Given the description of an element on the screen output the (x, y) to click on. 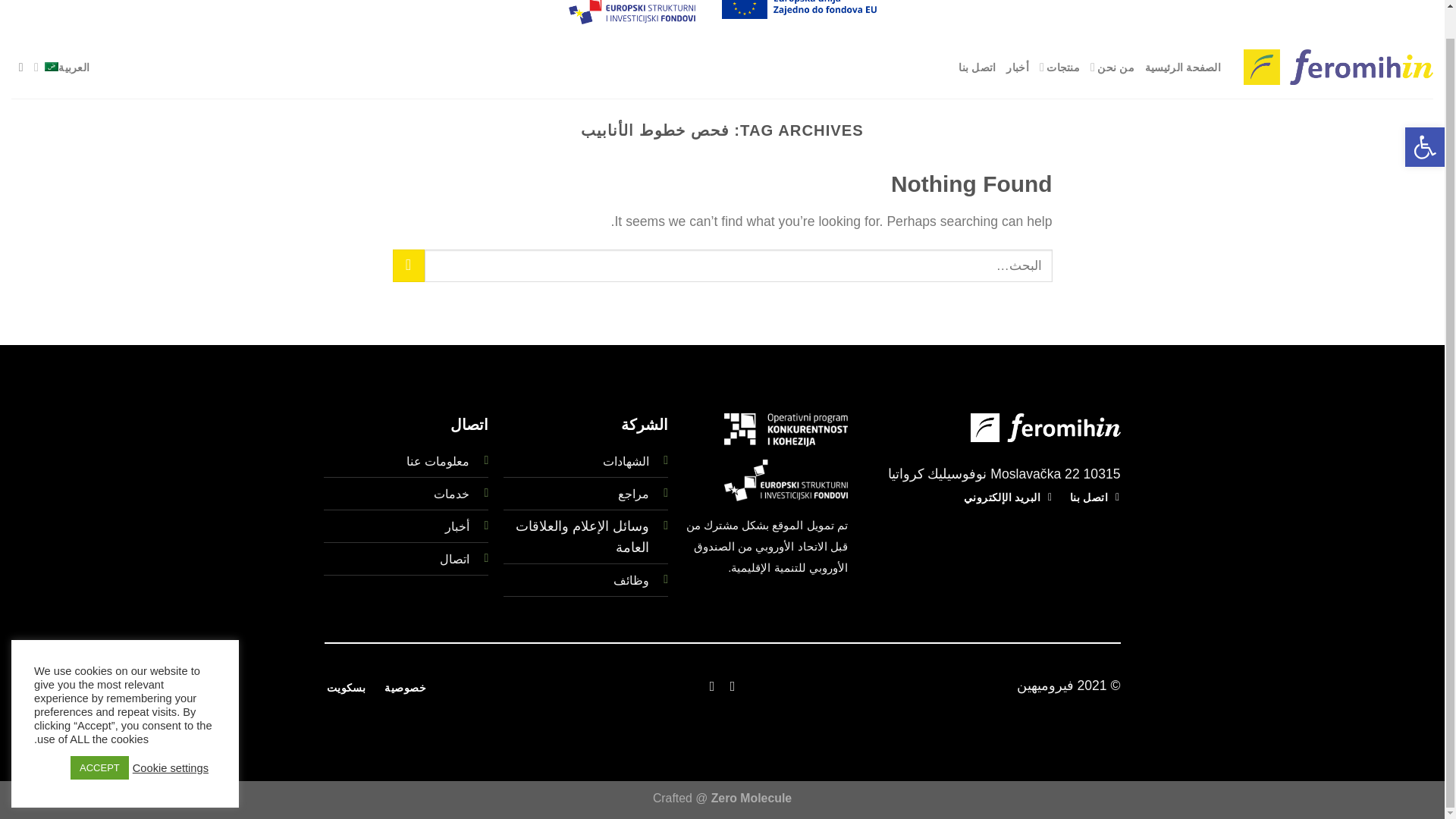
Accessibility Tools (1424, 118)
Feromihin (1337, 67)
